Given the description of an element on the screen output the (x, y) to click on. 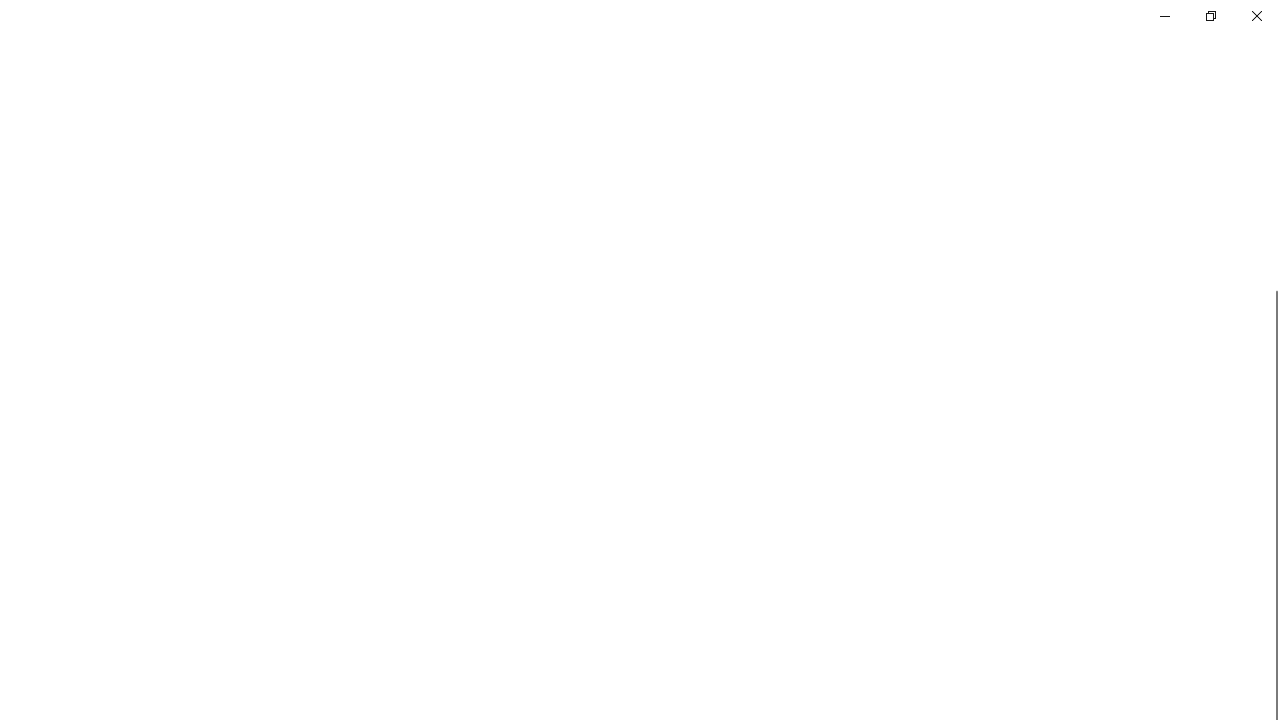
Minimize Settings (1164, 15)
Vertical Small Decrease (1272, 103)
Get help (1074, 10)
Give feedback (1091, 41)
Restore Settings (1210, 15)
Close Settings (1256, 15)
Vertical Large Decrease (1272, 201)
